Given the description of an element on the screen output the (x, y) to click on. 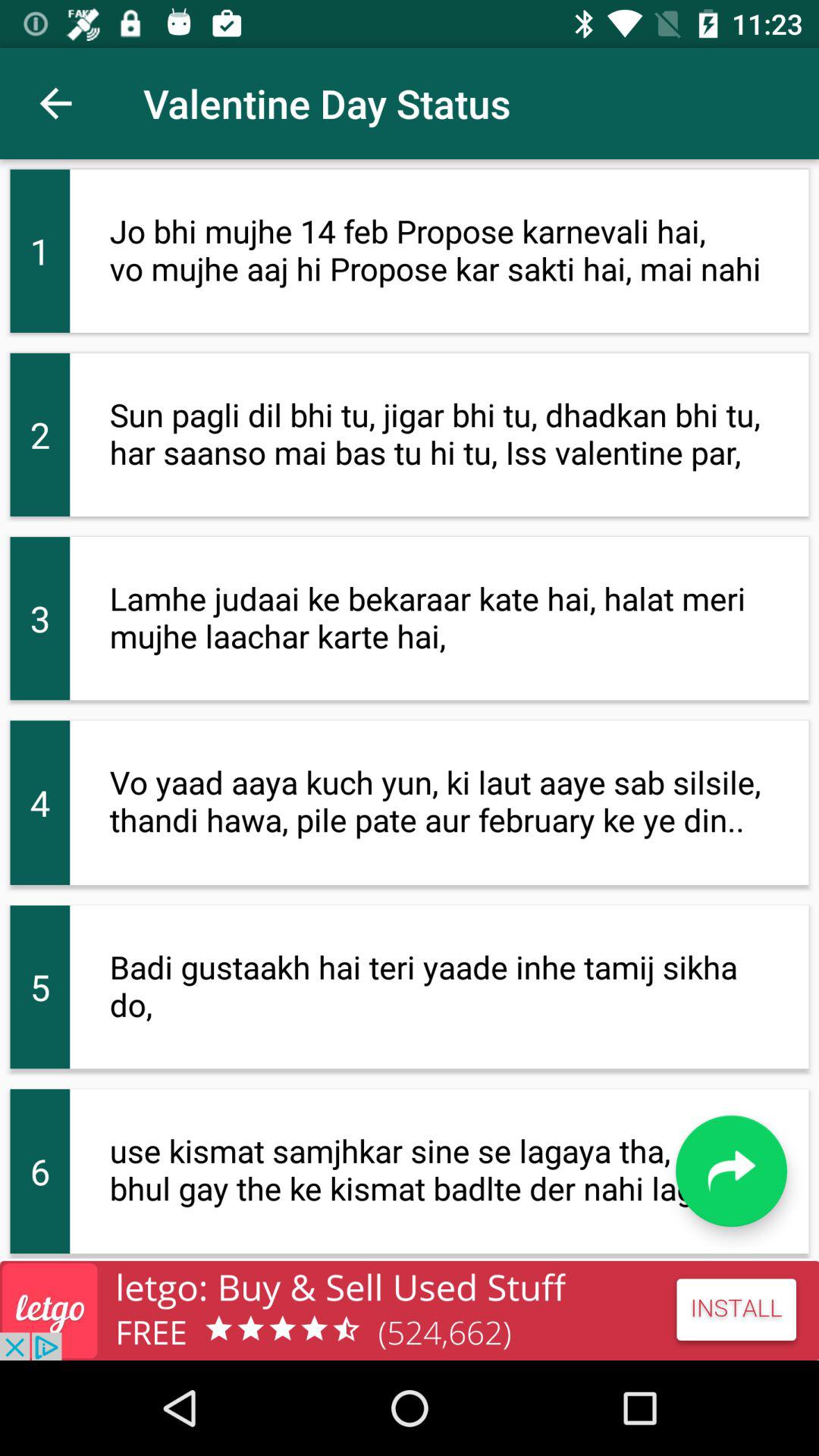
goto next (731, 1170)
